Given the description of an element on the screen output the (x, y) to click on. 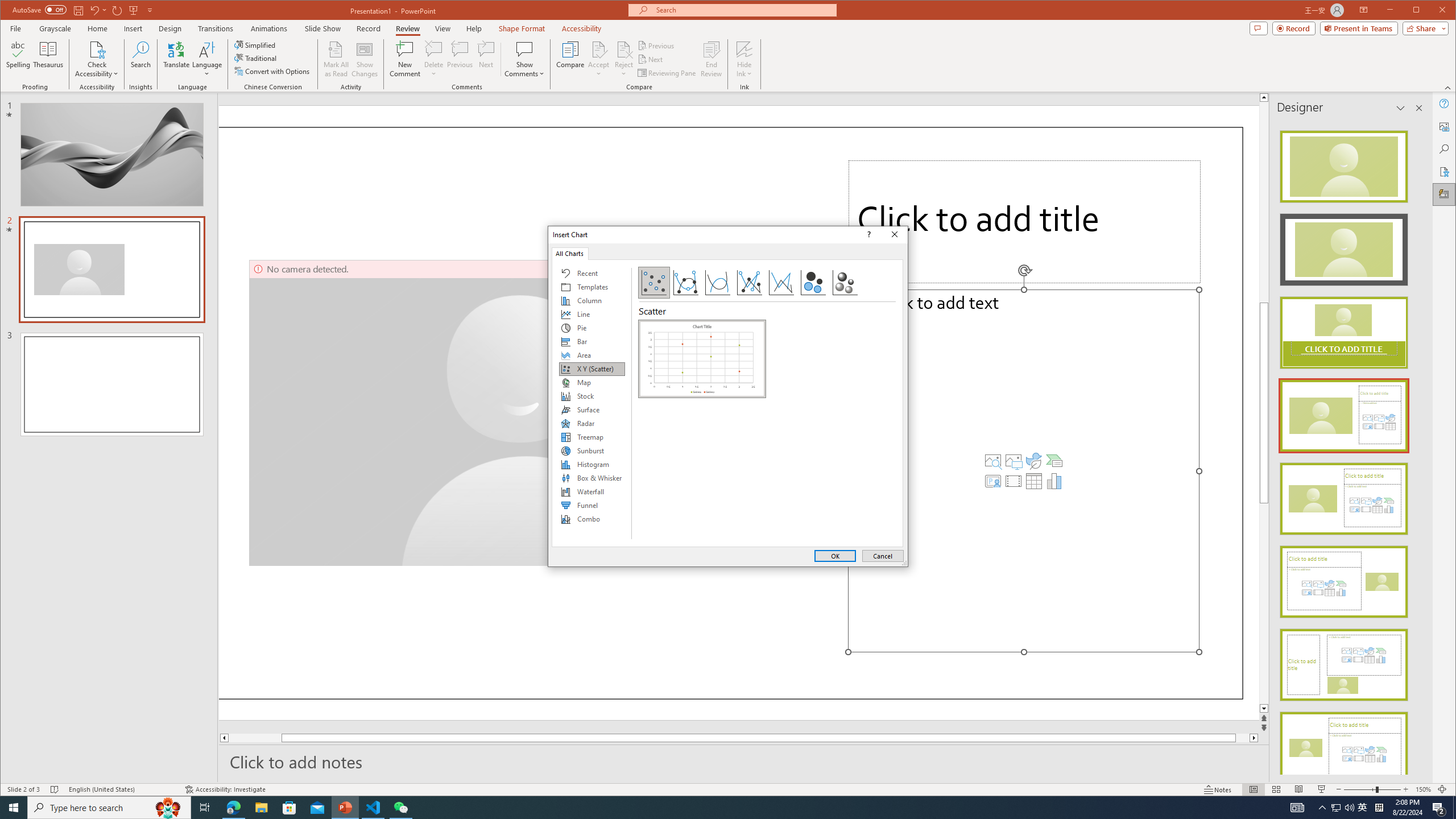
Close pane (1418, 107)
Insert Table (1033, 480)
Microsoft Edge - 1 running window (233, 807)
Insert Cameo (992, 480)
Sunburst (591, 450)
Hide Ink (744, 59)
Stock Images (992, 460)
Spelling... (18, 59)
Pie (591, 327)
Chart Types (591, 403)
